Given the description of an element on the screen output the (x, y) to click on. 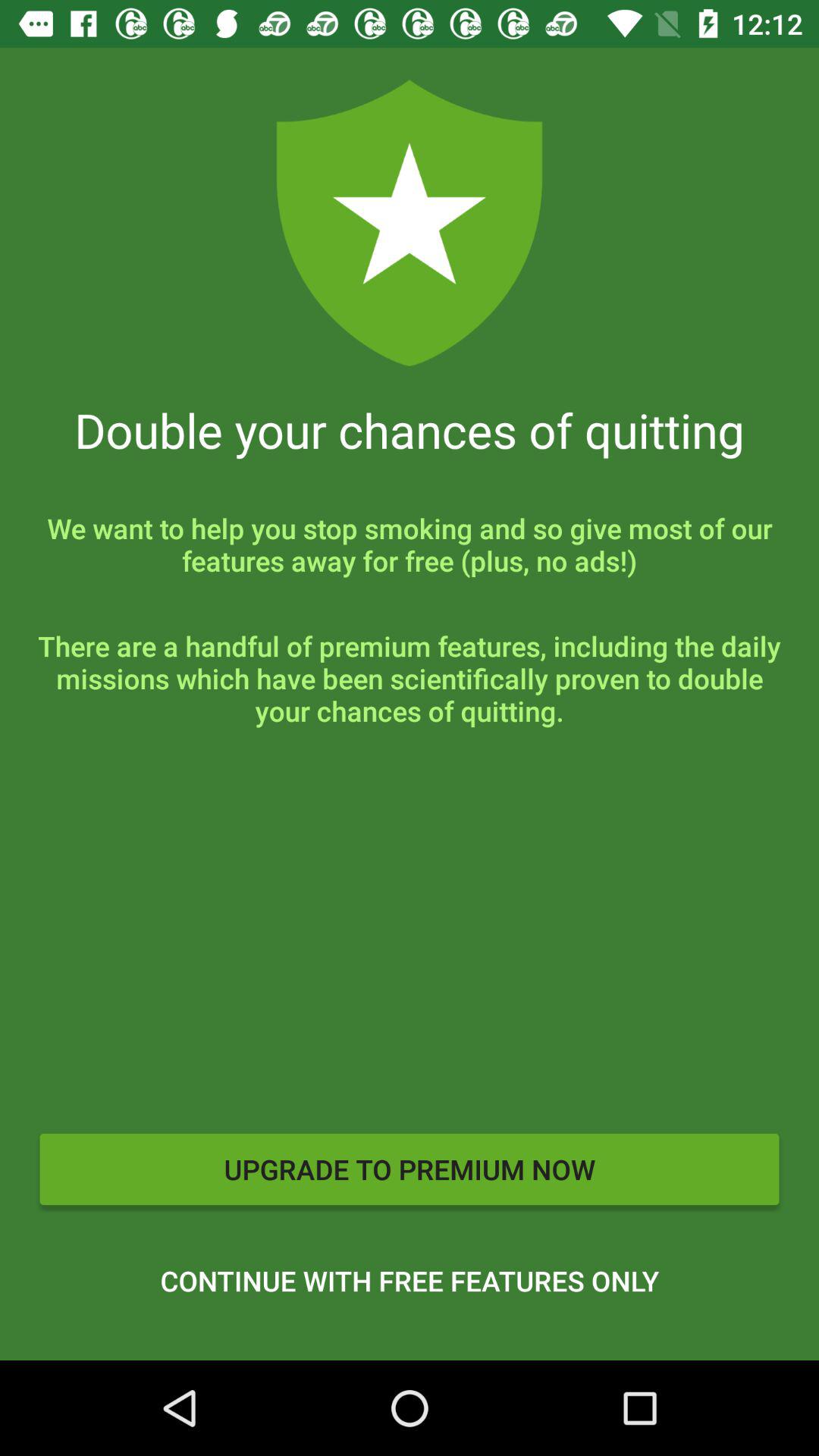
launch the icon below upgrade to premium icon (409, 1280)
